Given the description of an element on the screen output the (x, y) to click on. 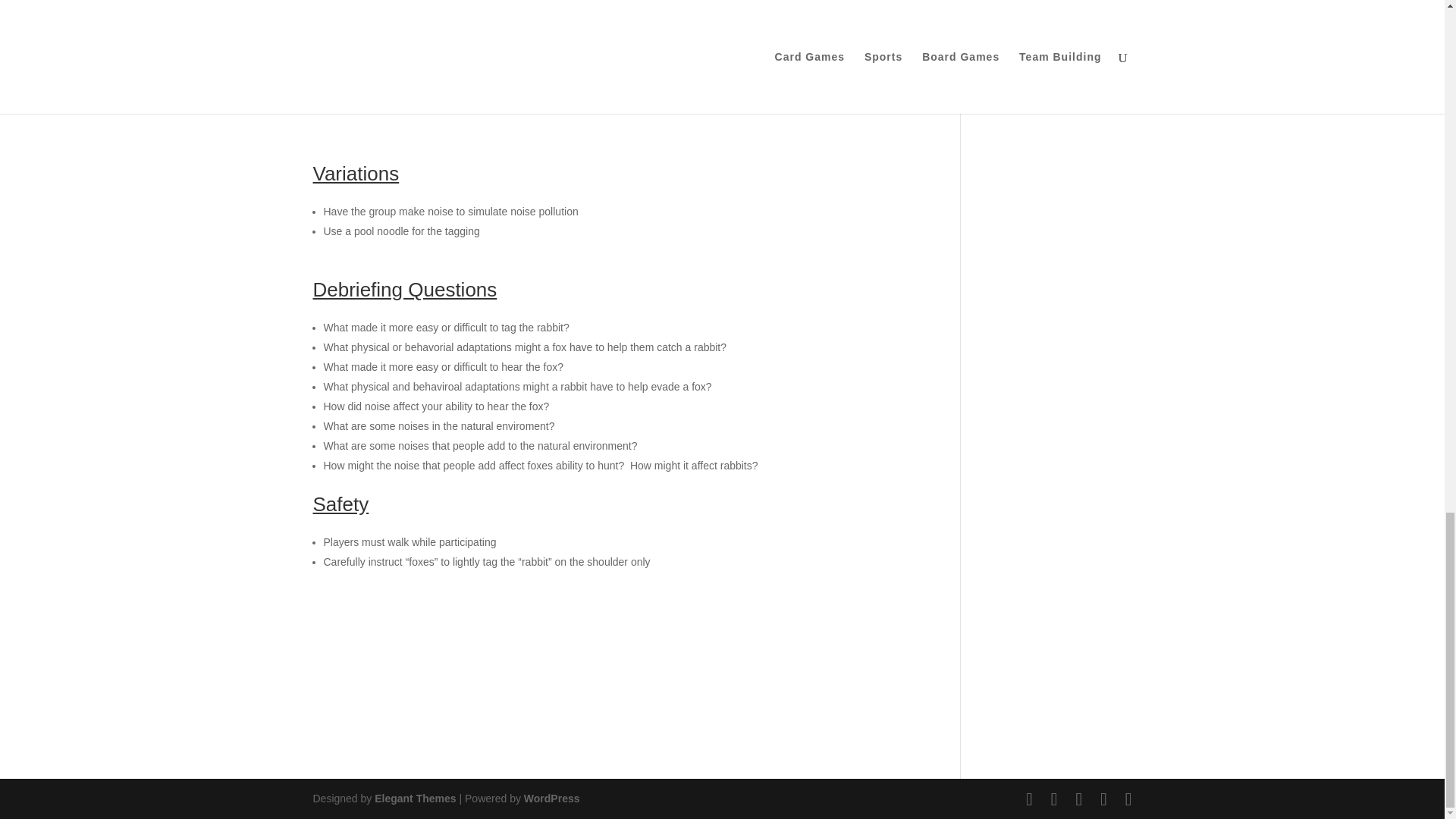
WordPress (551, 798)
Premium WordPress Themes (414, 798)
Elegant Themes (414, 798)
